Given the description of an element on the screen output the (x, y) to click on. 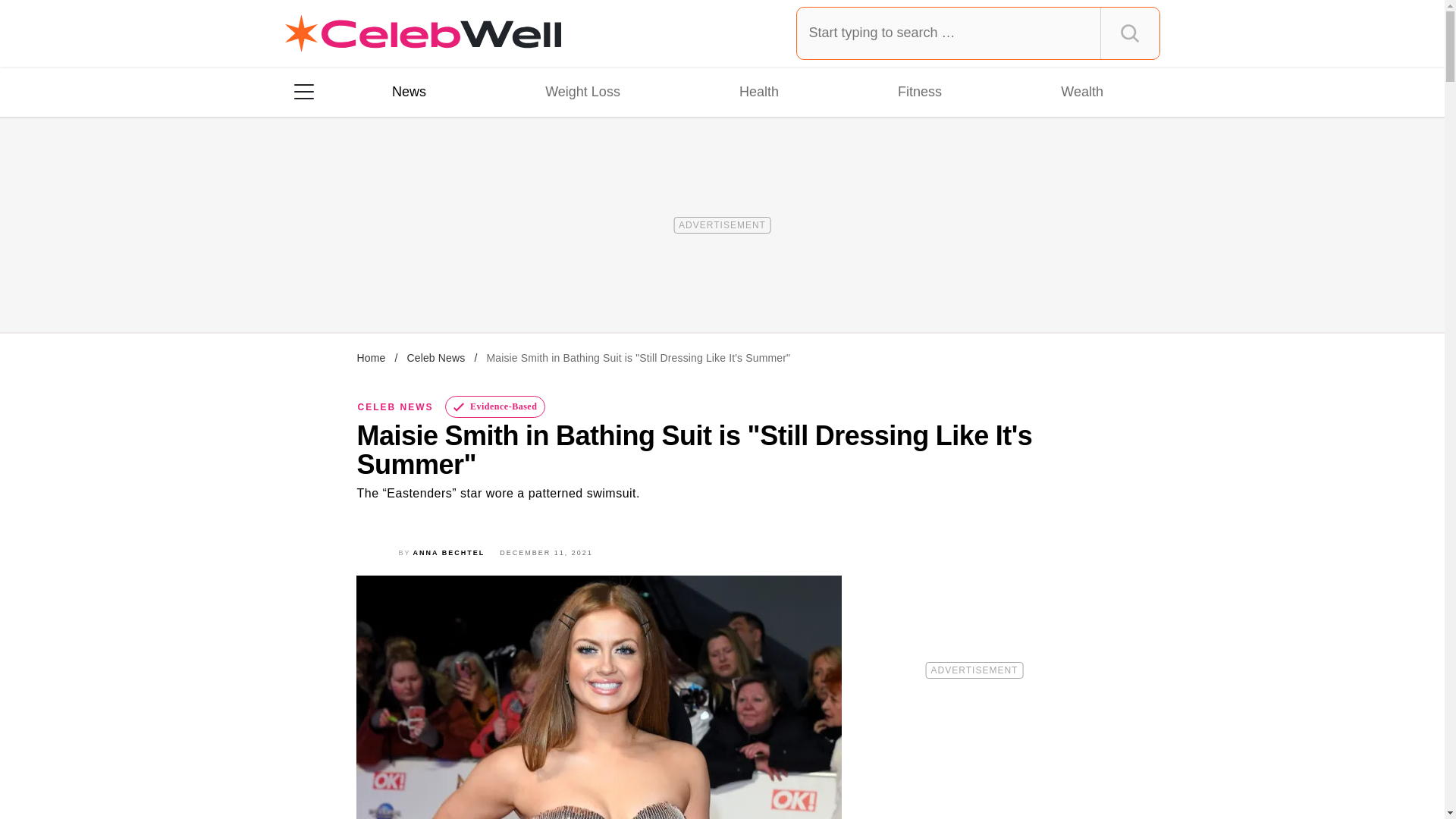
Celeb News (435, 357)
Home (370, 357)
Wealth (1081, 91)
Fitness (919, 91)
Weight Loss (582, 91)
Evidence-Based (495, 406)
News (408, 91)
Type and press Enter to search (978, 32)
Posts by Anna Bechtel (448, 552)
ANNA BECHTEL (448, 552)
